Given the description of an element on the screen output the (x, y) to click on. 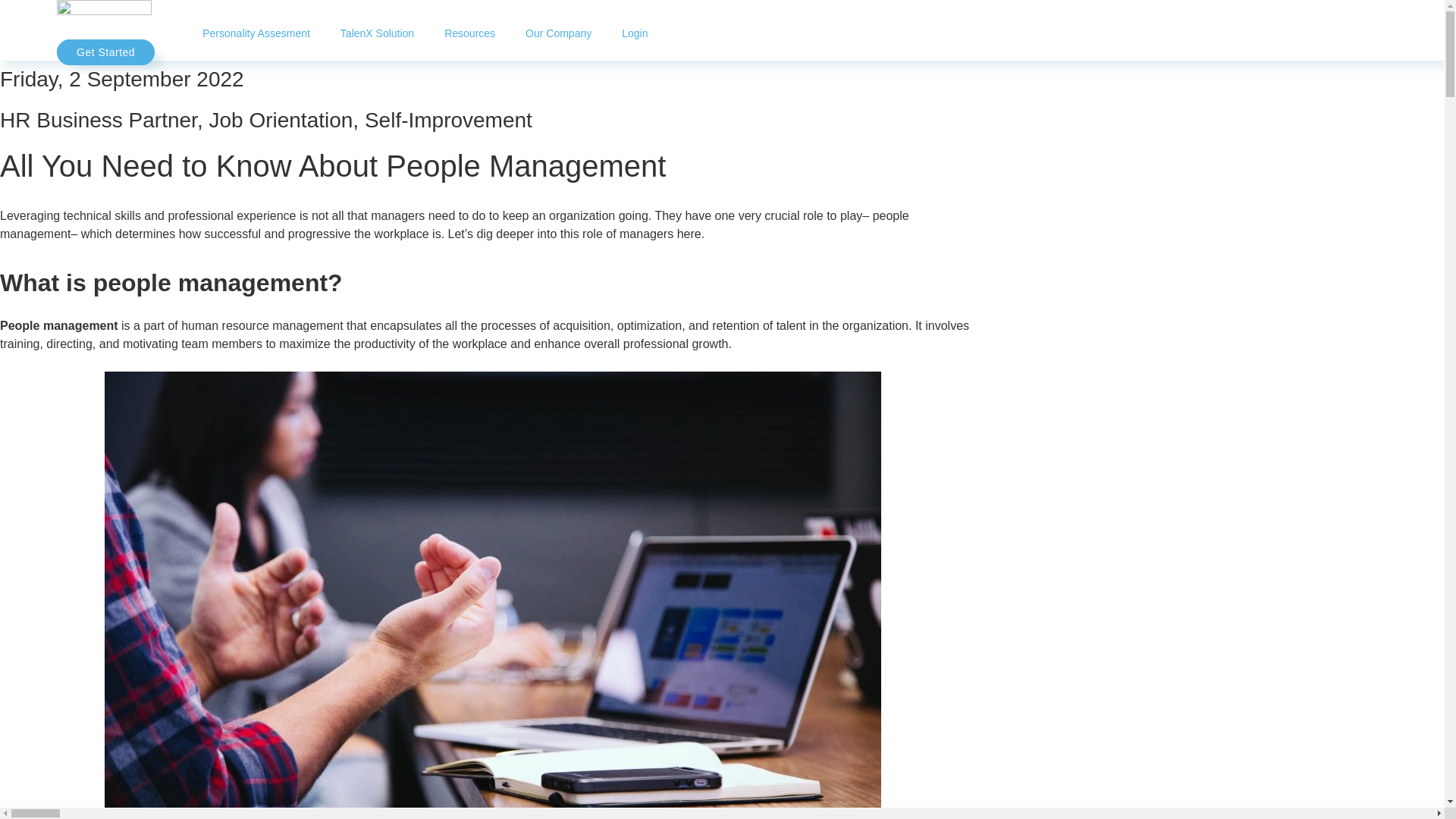
Resources (470, 33)
TalenX Solution (376, 33)
Our Company (559, 33)
Personality Assesment (255, 33)
Login (634, 33)
